Given the description of an element on the screen output the (x, y) to click on. 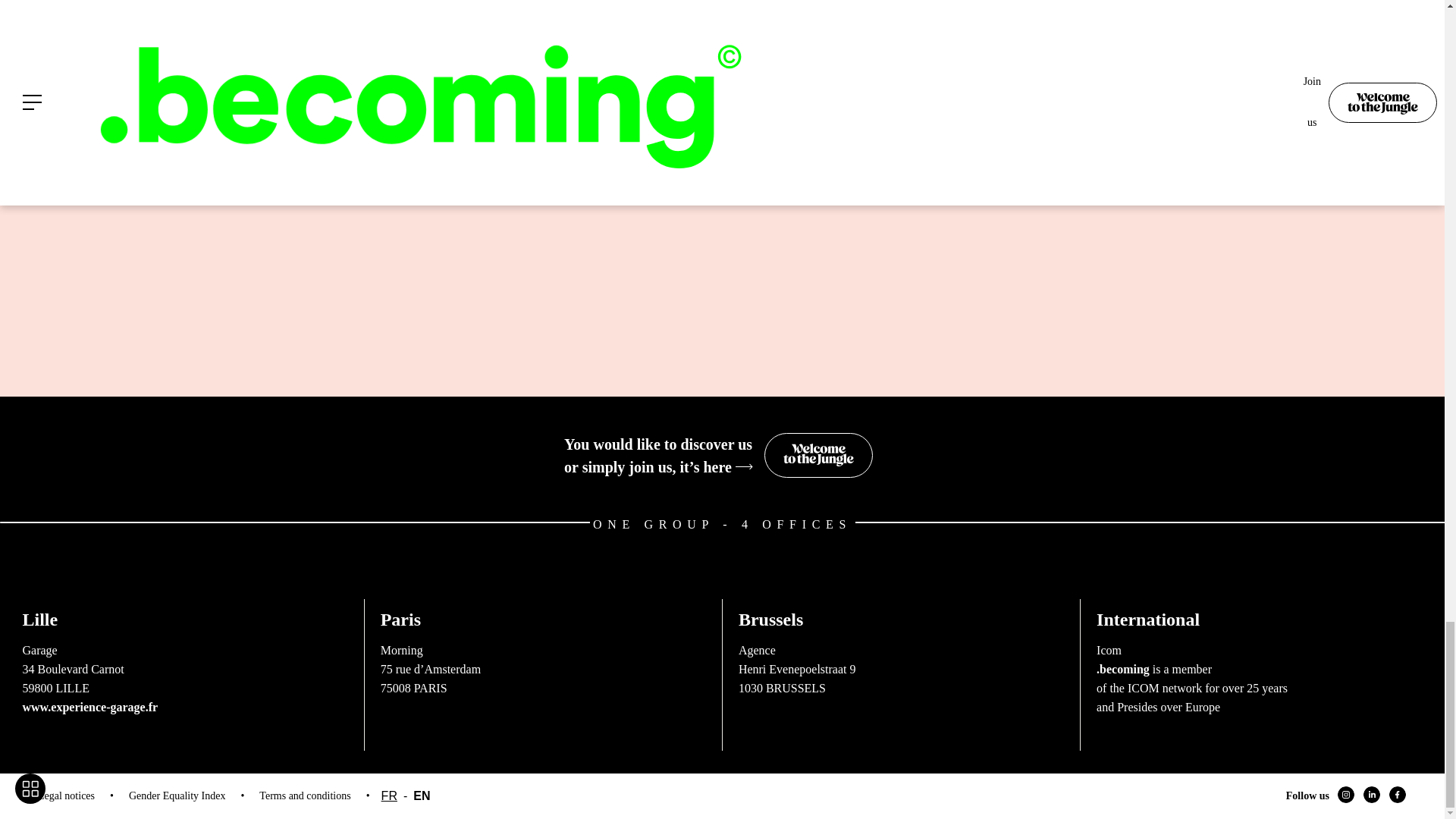
Form 0 (901, 647)
FR (892, 140)
